Given the description of an element on the screen output the (x, y) to click on. 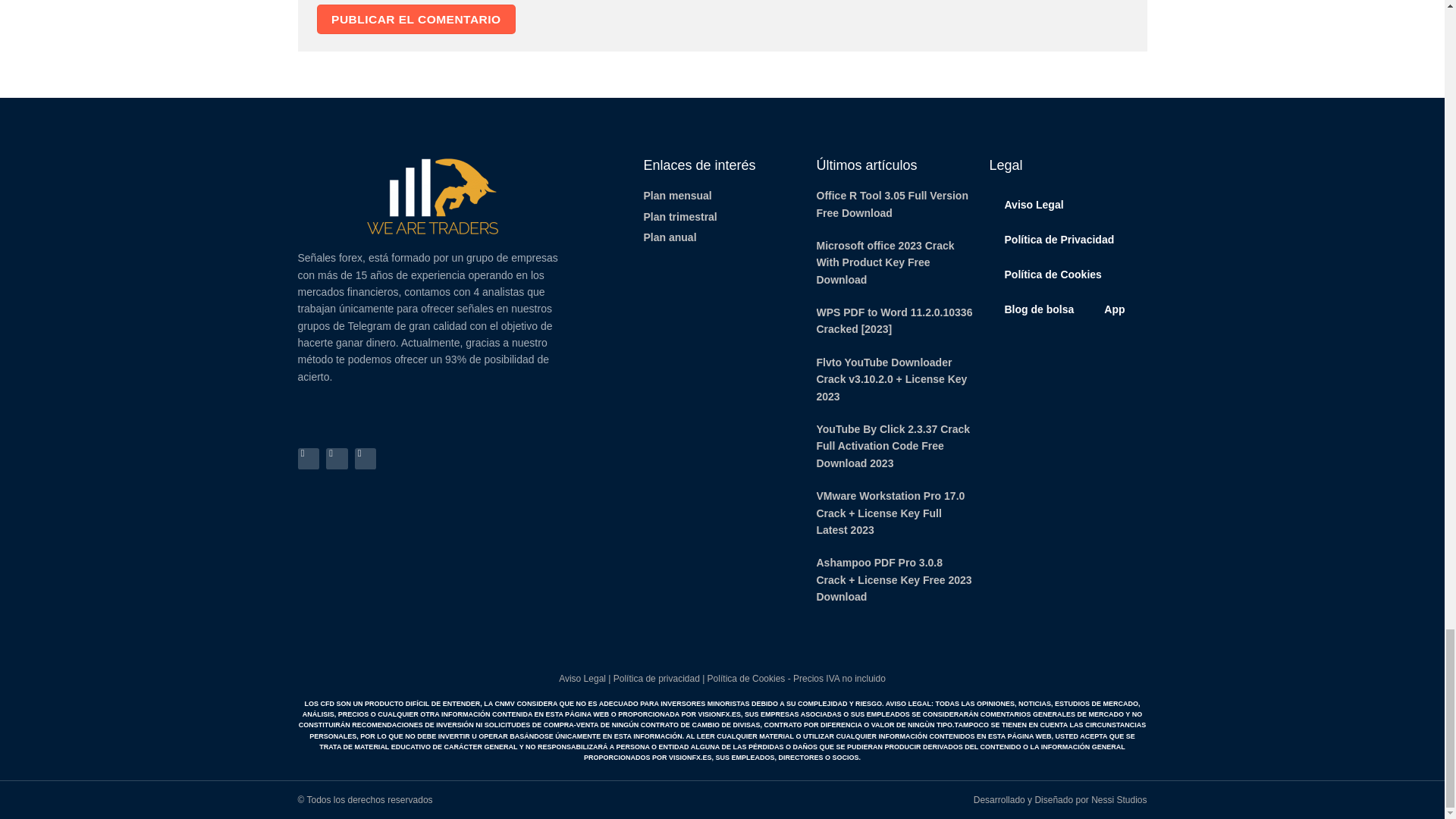
Publicar el comentario (416, 19)
Plan trimestral (721, 216)
Publicar el comentario (416, 19)
Plan mensual (721, 195)
WE ARE TRADERS (431, 196)
Plan anual (721, 237)
Office R Tool 3.05 Full Version Free Download (891, 203)
